Given the description of an element on the screen output the (x, y) to click on. 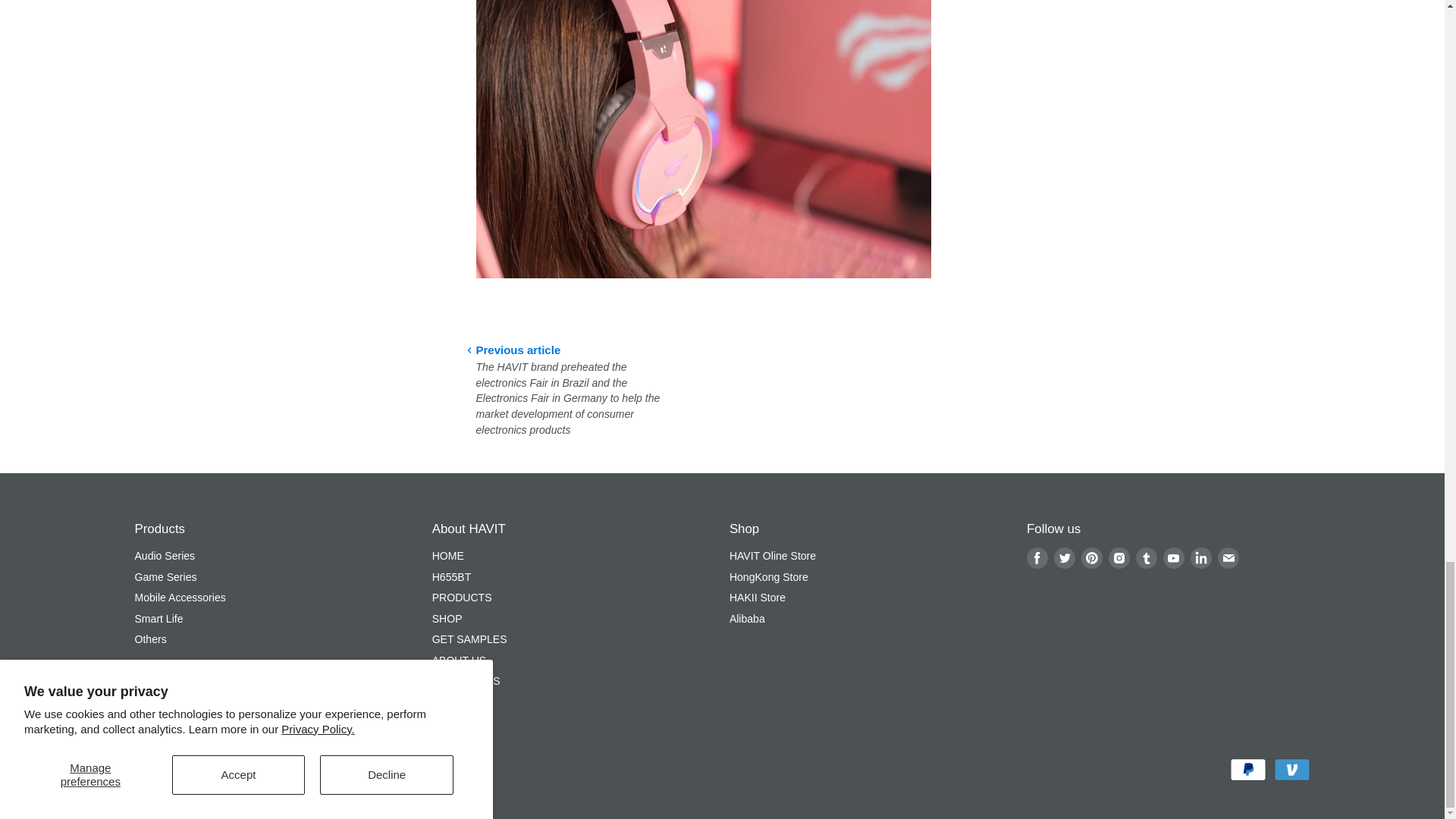
Youtube (1174, 557)
Facebook (1037, 557)
LinkedIn (1201, 557)
PayPal (1248, 769)
Twitter (1064, 557)
Instagram (1118, 557)
Venmo (1292, 769)
Email (1228, 557)
Tumblr (1146, 557)
Pinterest (1091, 557)
